Given the description of an element on the screen output the (x, y) to click on. 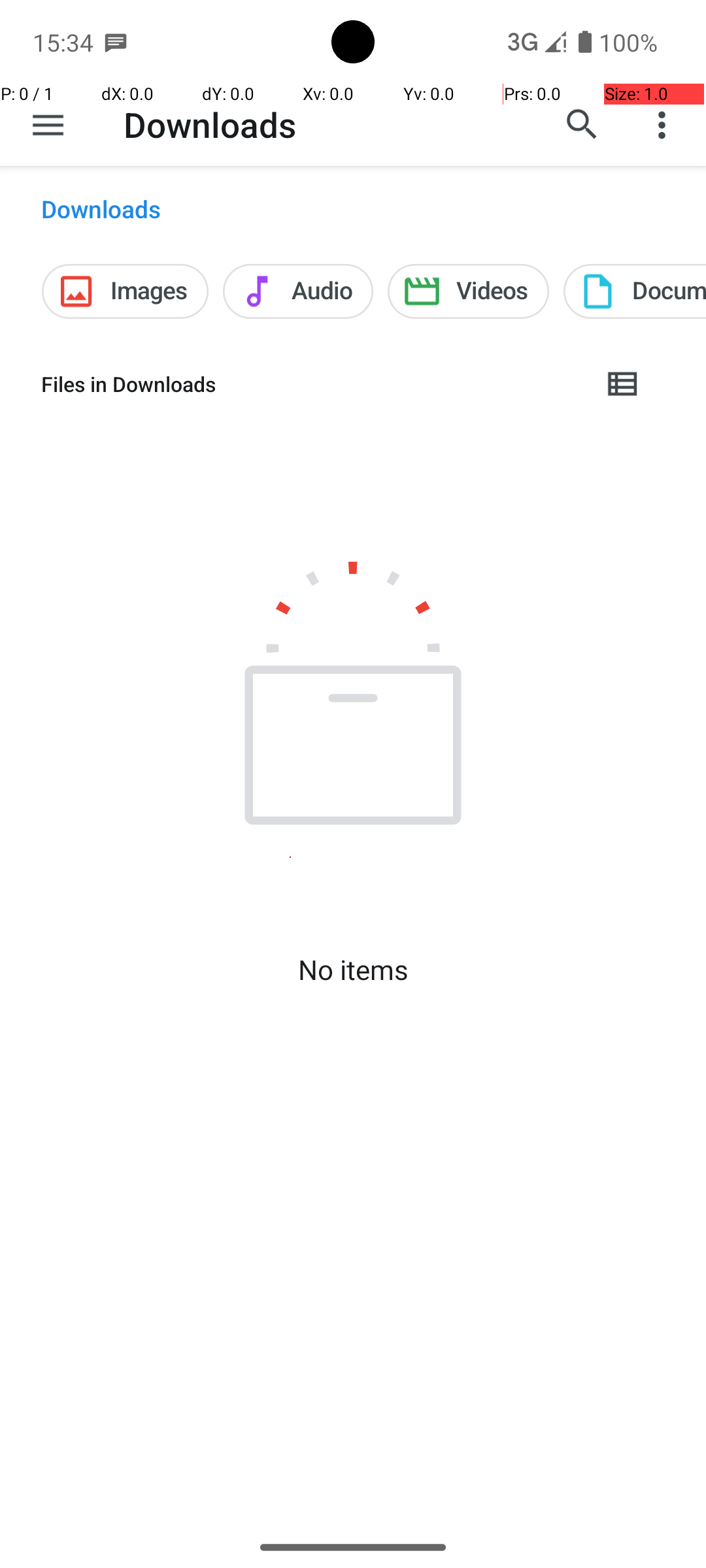
Downloads Element type: android.widget.TextView (209, 124)
Files in Downloads Element type: android.widget.TextView (311, 383)
No items Element type: android.widget.TextView (352, 968)
SMS Messenger notification: +12845986552 Element type: android.widget.ImageView (115, 41)
